Given the description of an element on the screen output the (x, y) to click on. 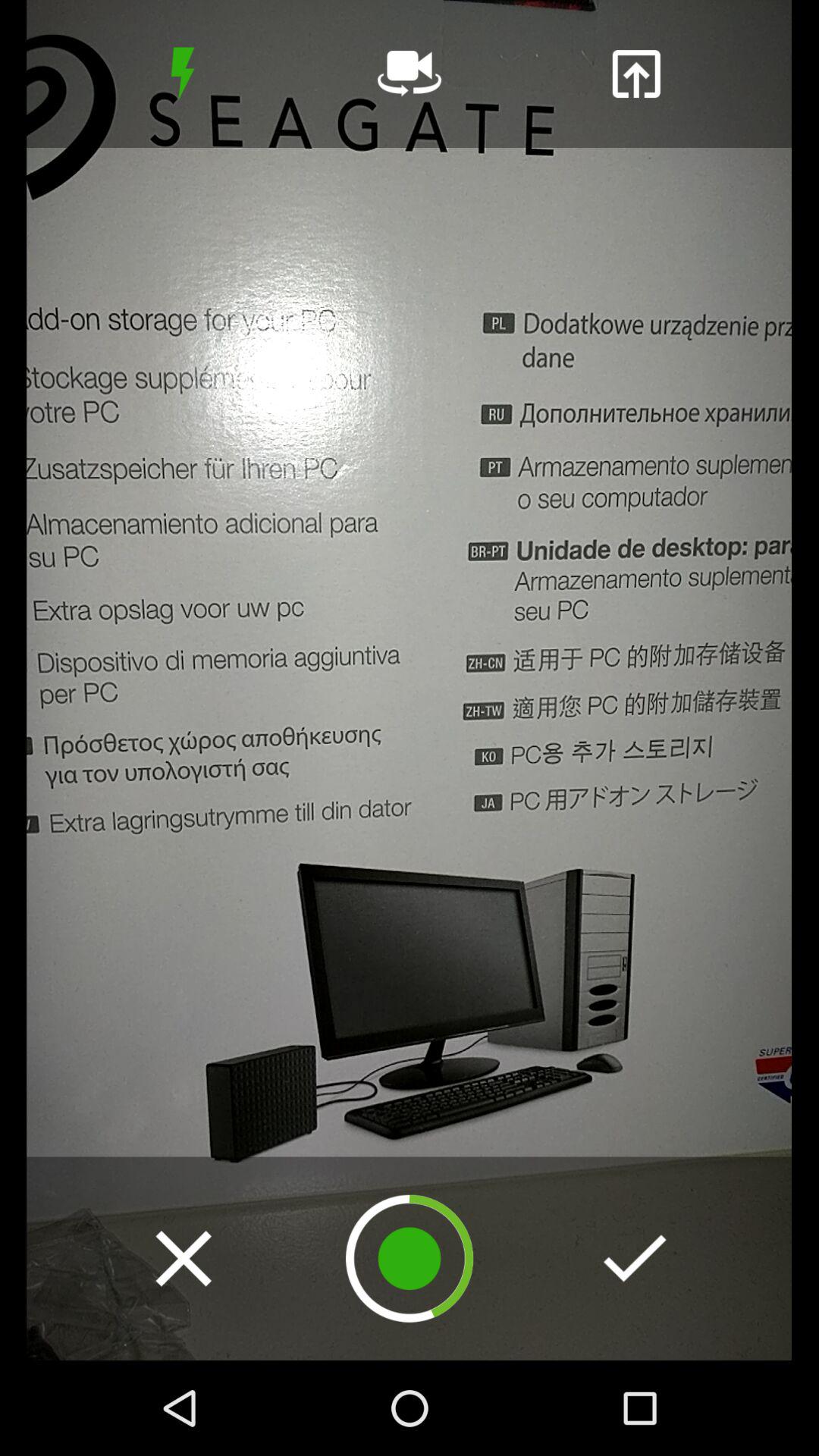
record screen (409, 1258)
